Given the description of an element on the screen output the (x, y) to click on. 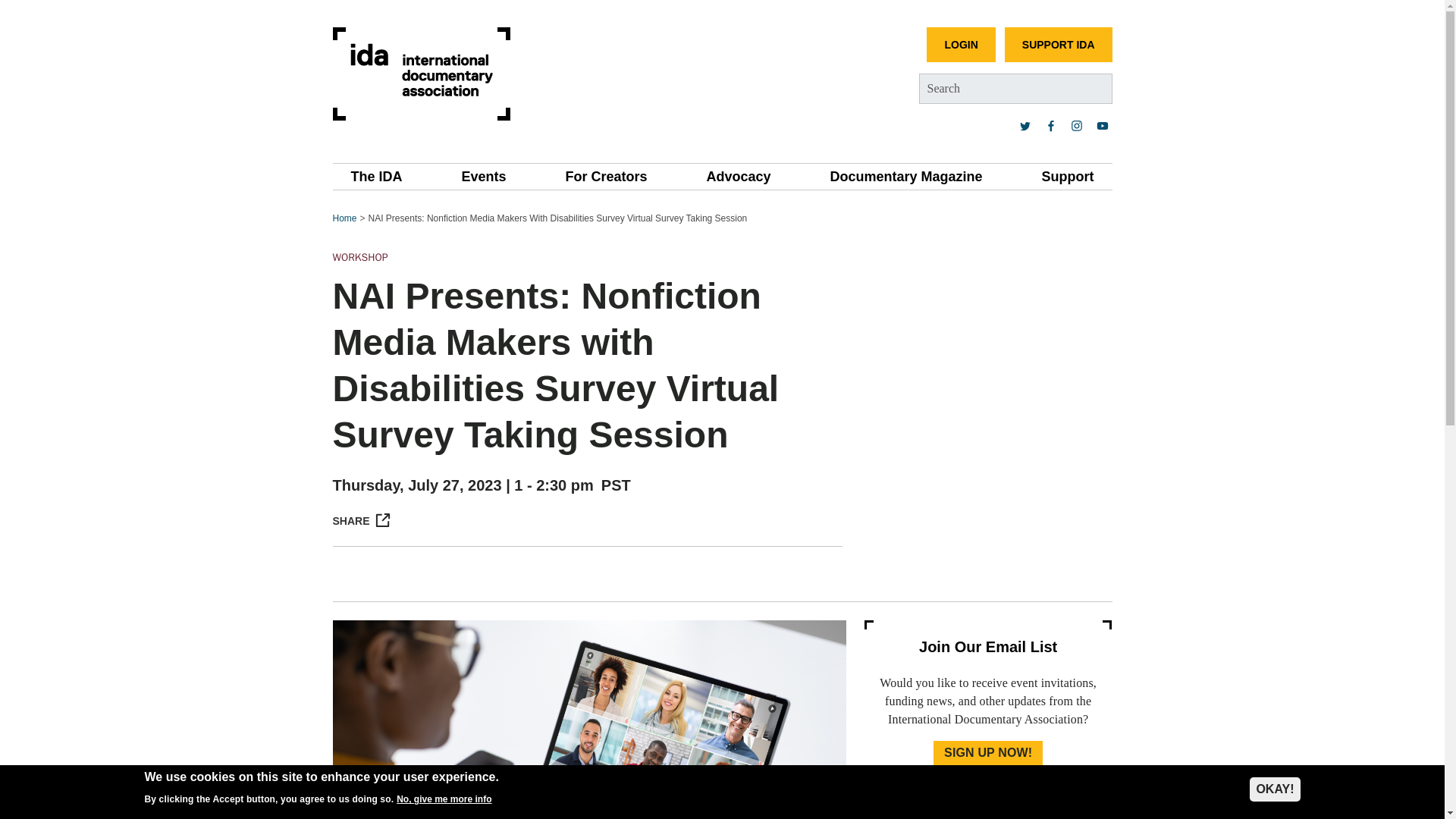
International Documentary Association (420, 73)
Home (420, 73)
No, give me more info (444, 798)
The IDA (375, 176)
Events (483, 176)
OKAY! (1274, 789)
SUPPORT IDA (1058, 44)
LOGIN (960, 44)
